Given the description of an element on the screen output the (x, y) to click on. 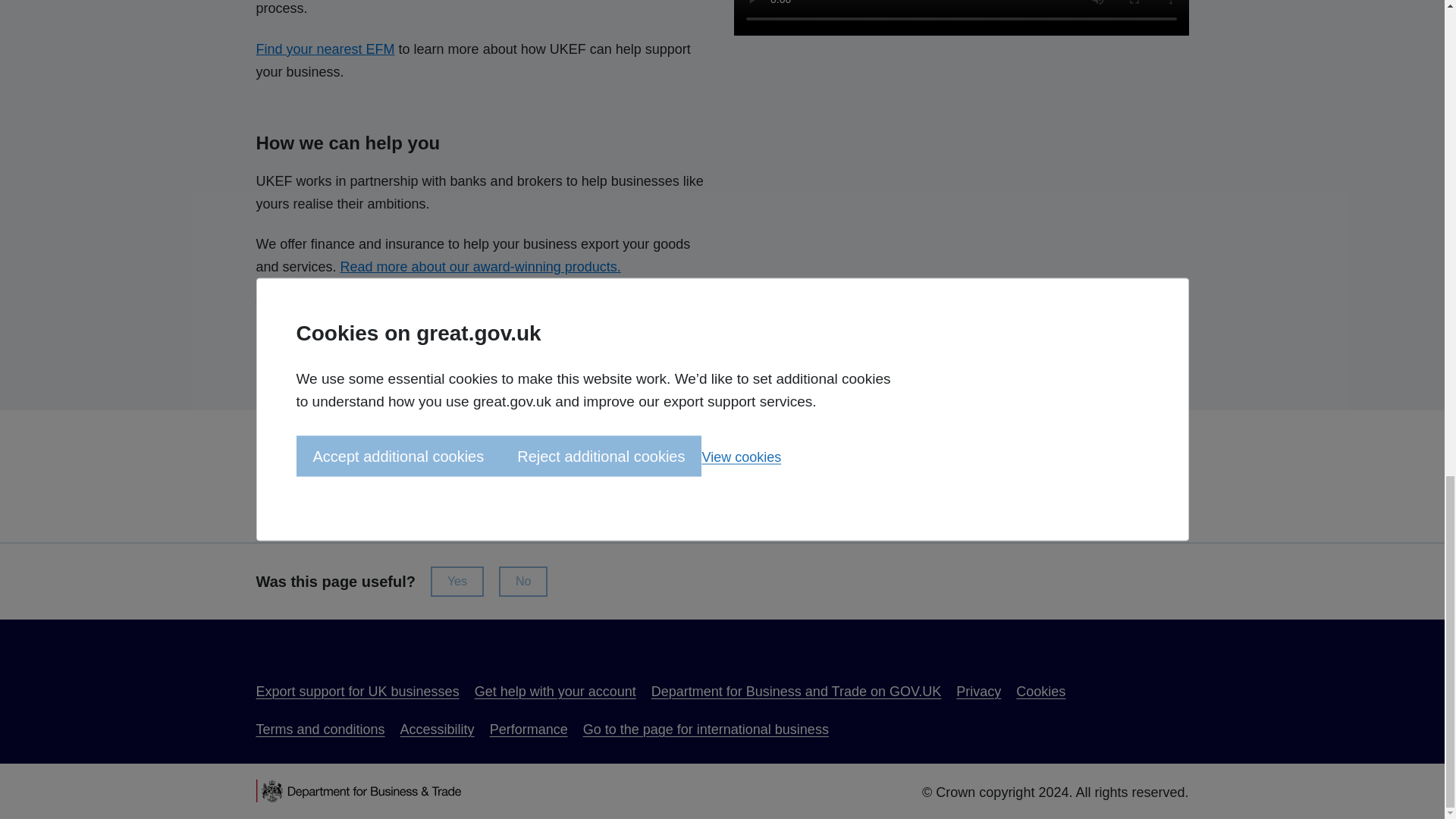
Export support for UK businesses (358, 691)
Get help with your account (555, 691)
Performance (528, 729)
Department for Business and Trade on GOV.UK (796, 691)
Terms and conditions (320, 729)
Terms and conditions (320, 729)
Read more about our award-winning products. (480, 266)
Find your nearest EFM (325, 48)
Privacy (978, 691)
Performance (528, 729)
